Given the description of an element on the screen output the (x, y) to click on. 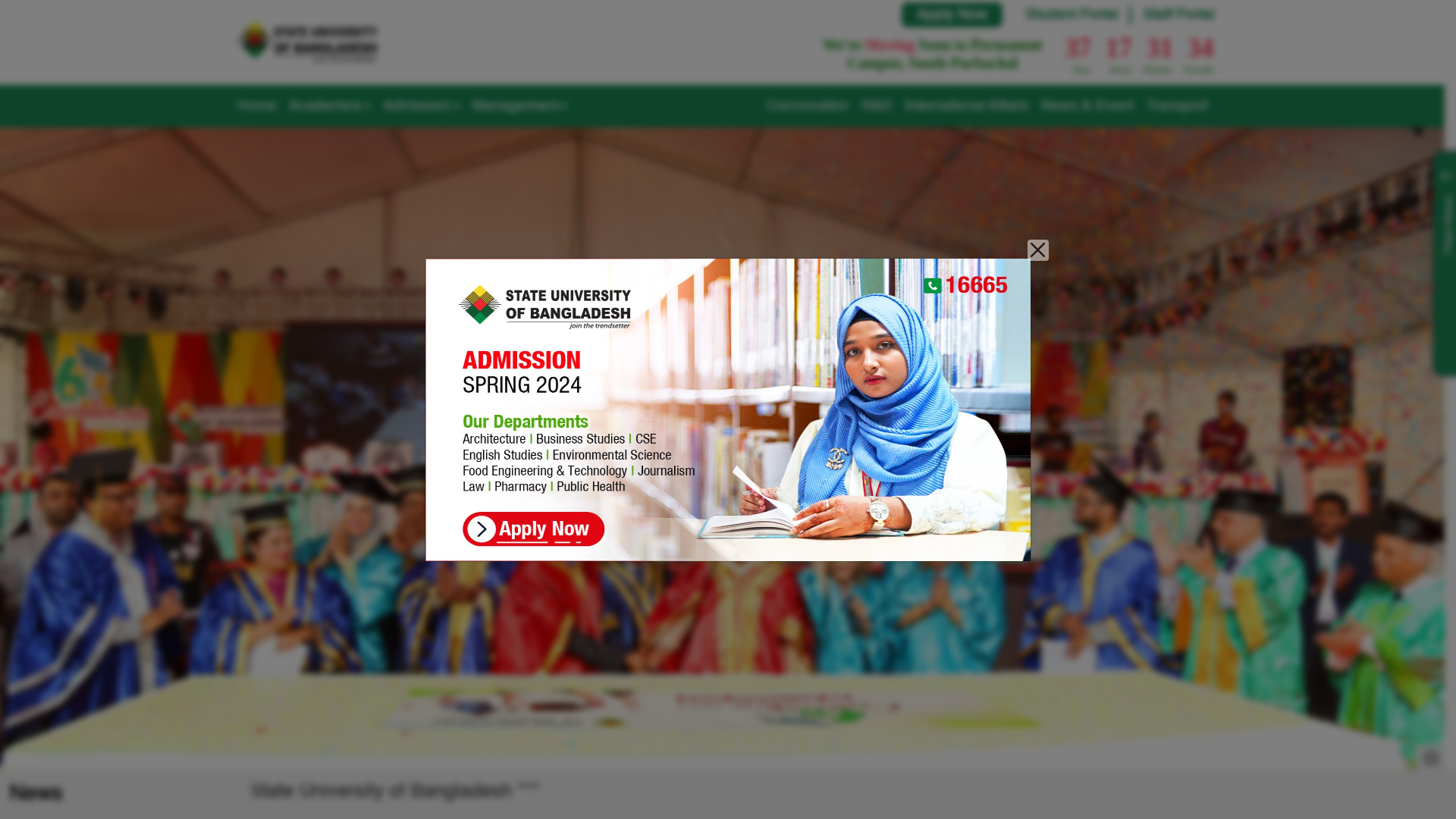
Convocation Element type: text (806, 106)
Apply Now Element type: text (950, 14)
R&D Element type: text (876, 106)
Academics Element type: text (329, 106)
Management Element type: text (519, 106)
International Affairs Element type: text (965, 106)
Home Element type: text (256, 106)
Transport Element type: text (1176, 106)
News & Event Element type: text (1086, 106)
Staff Portal Element type: text (1177, 14)
Student Portal Element type: text (1071, 14)
Admission Element type: text (420, 106)
